Given the description of an element on the screen output the (x, y) to click on. 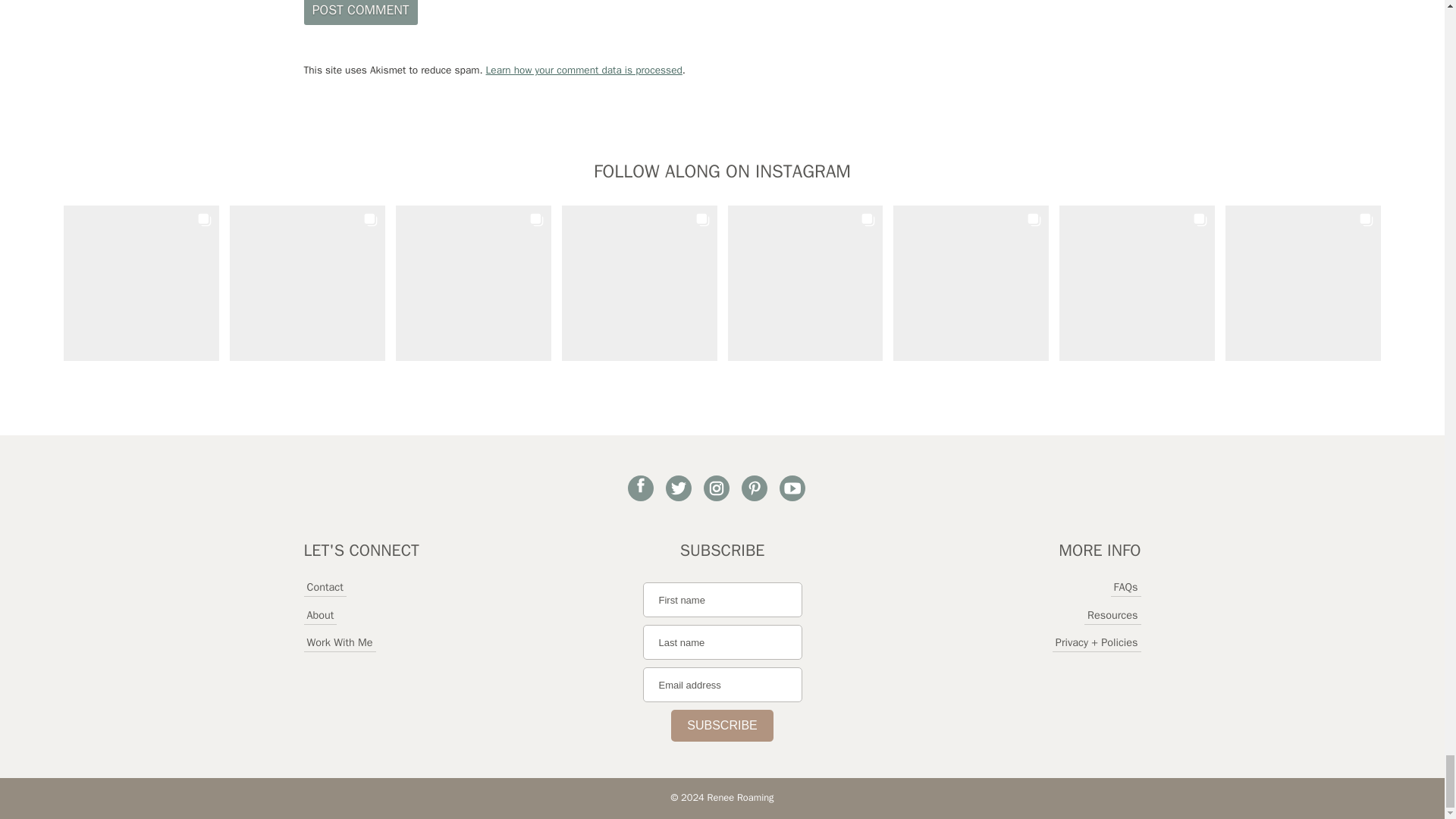
Post Comment (359, 12)
